Given the description of an element on the screen output the (x, y) to click on. 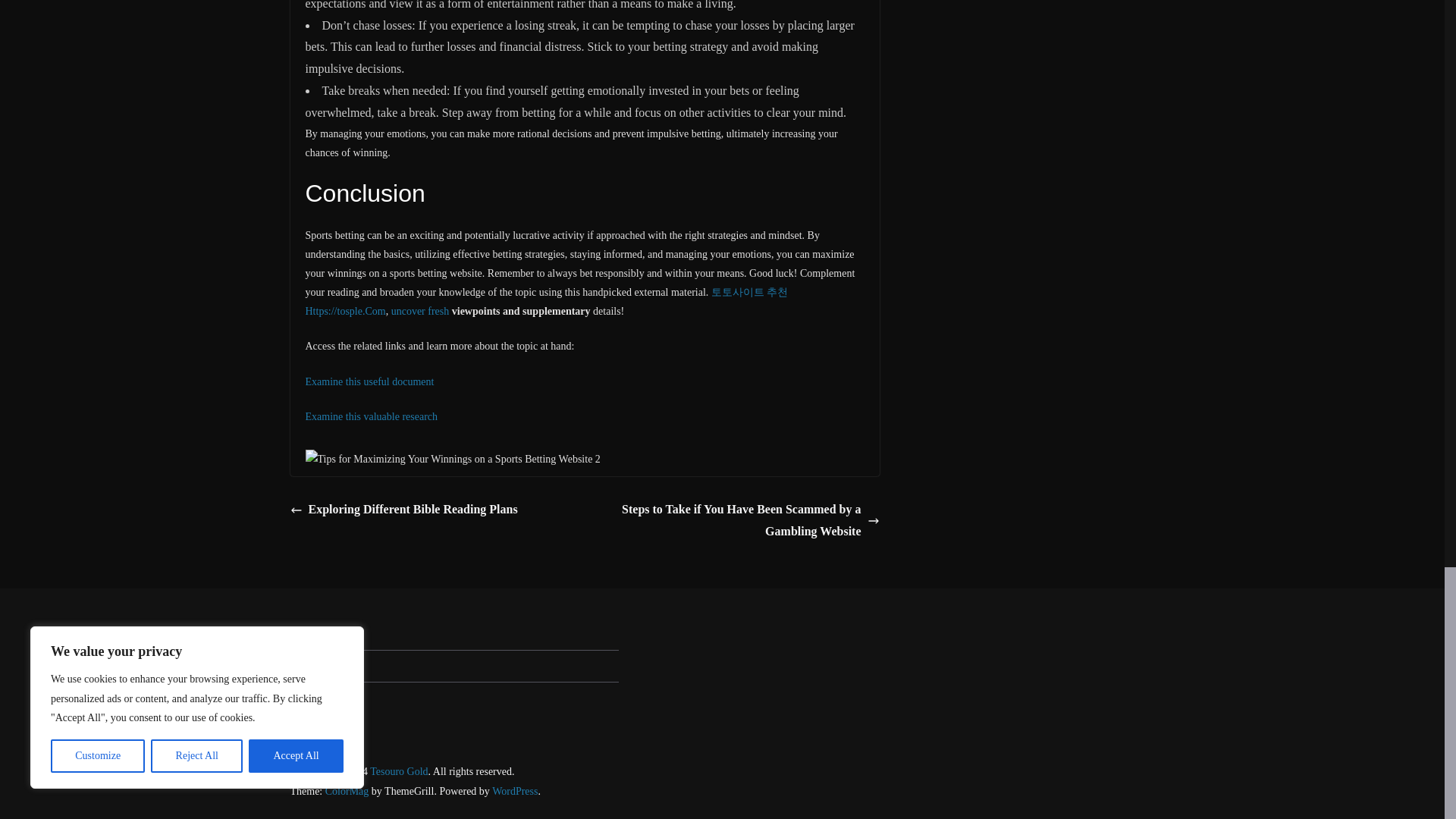
Steps to Take if You Have Been Scammed by a Gambling Website (735, 520)
Exploring Different Bible Reading Plans (402, 509)
Tesouro Gold (398, 771)
WordPress (514, 790)
Examine this valuable research (371, 416)
uncover fresh (420, 310)
ColorMag (346, 790)
Examine this useful document (368, 381)
